Given the description of an element on the screen output the (x, y) to click on. 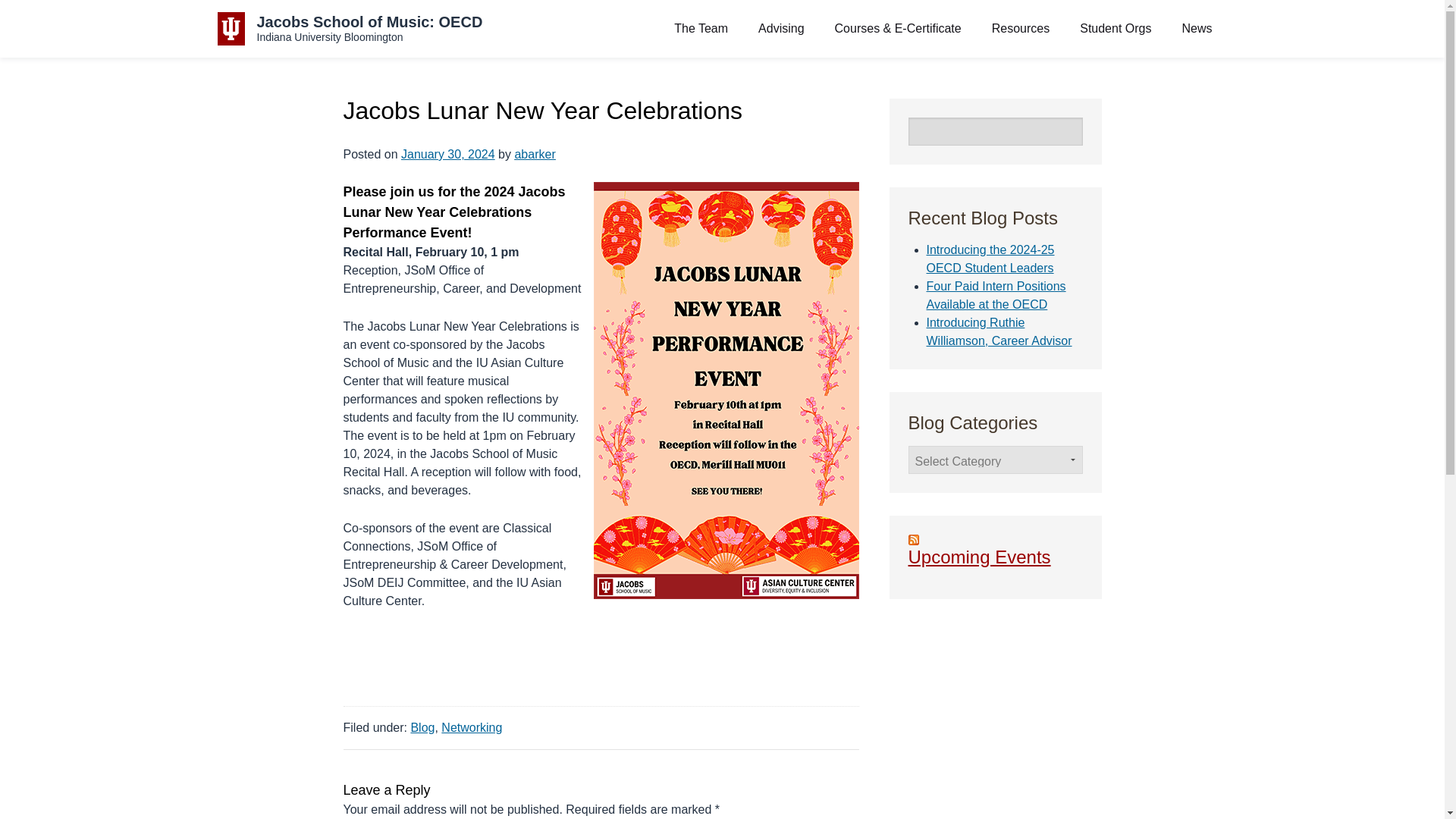
Advising (780, 28)
Networking (471, 727)
Blog (421, 727)
Introducing Ruthie Williamson, Career Advisor (998, 331)
Resources (1020, 28)
Syndicate this content (995, 550)
The Team (700, 28)
Student Orgs (1114, 28)
Introducing the 2024-25 OECD Student Leaders (348, 28)
